Given the description of an element on the screen output the (x, y) to click on. 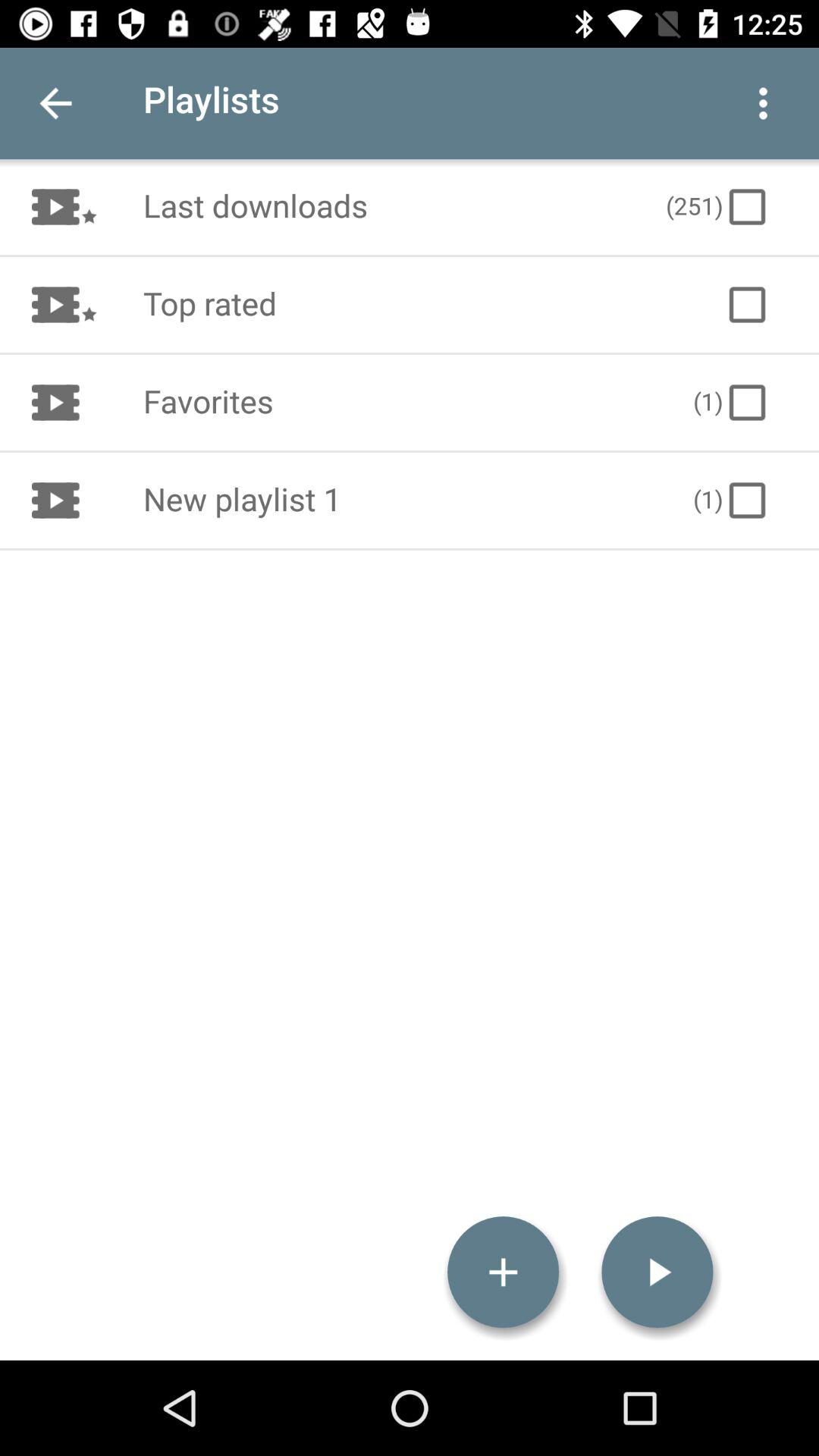
choose the (251) (718, 206)
